Given the description of an element on the screen output the (x, y) to click on. 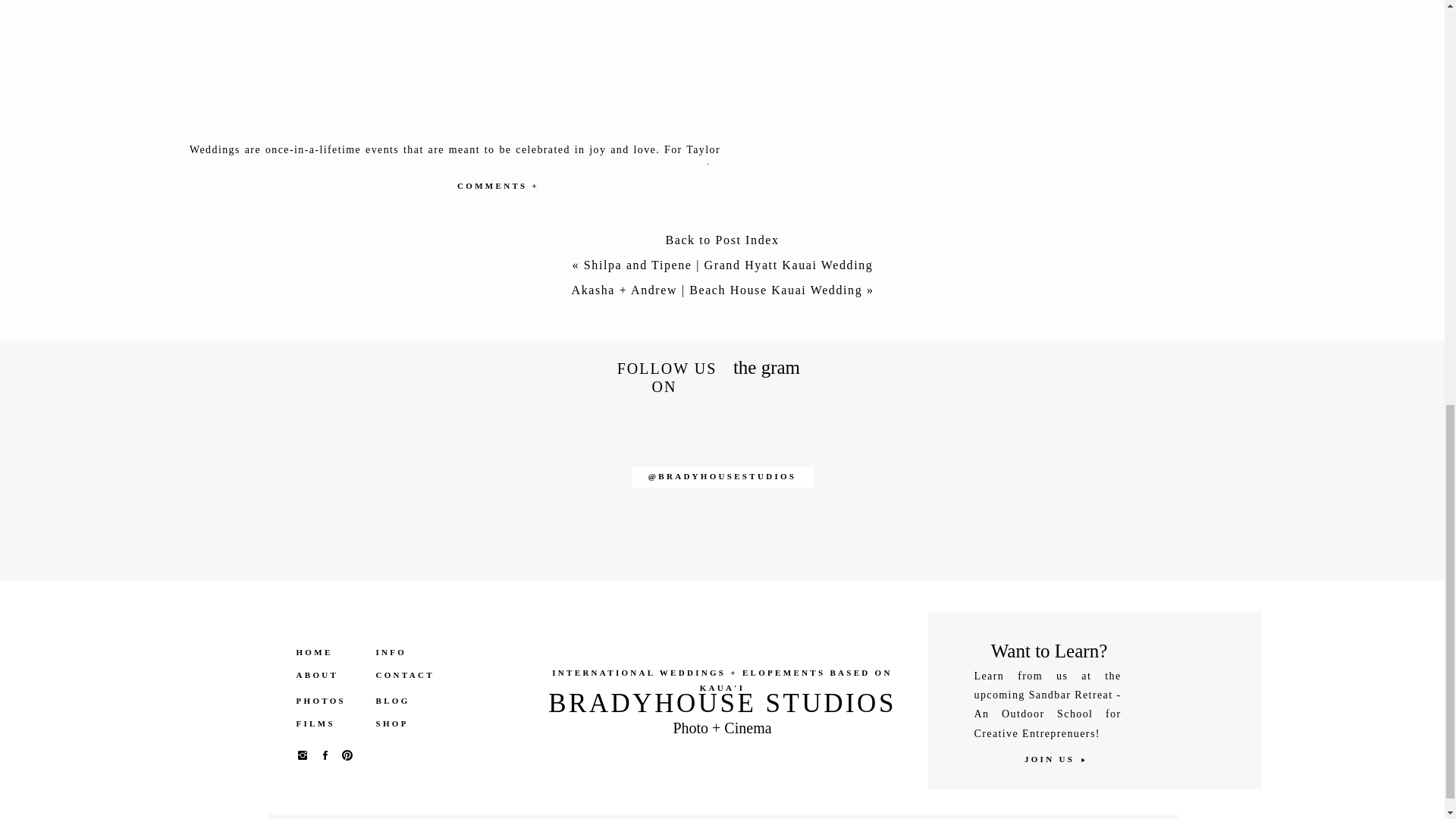
Luxe Events Hawaii (339, 656)
National Tropical Botanical Garden (322, 637)
Back to Post Index (721, 243)
ABOUT (327, 675)
Bradyhouse Studios (408, 618)
FILMS (327, 723)
INFO (400, 652)
HOME (327, 652)
PHOTOS (327, 700)
